Given the description of an element on the screen output the (x, y) to click on. 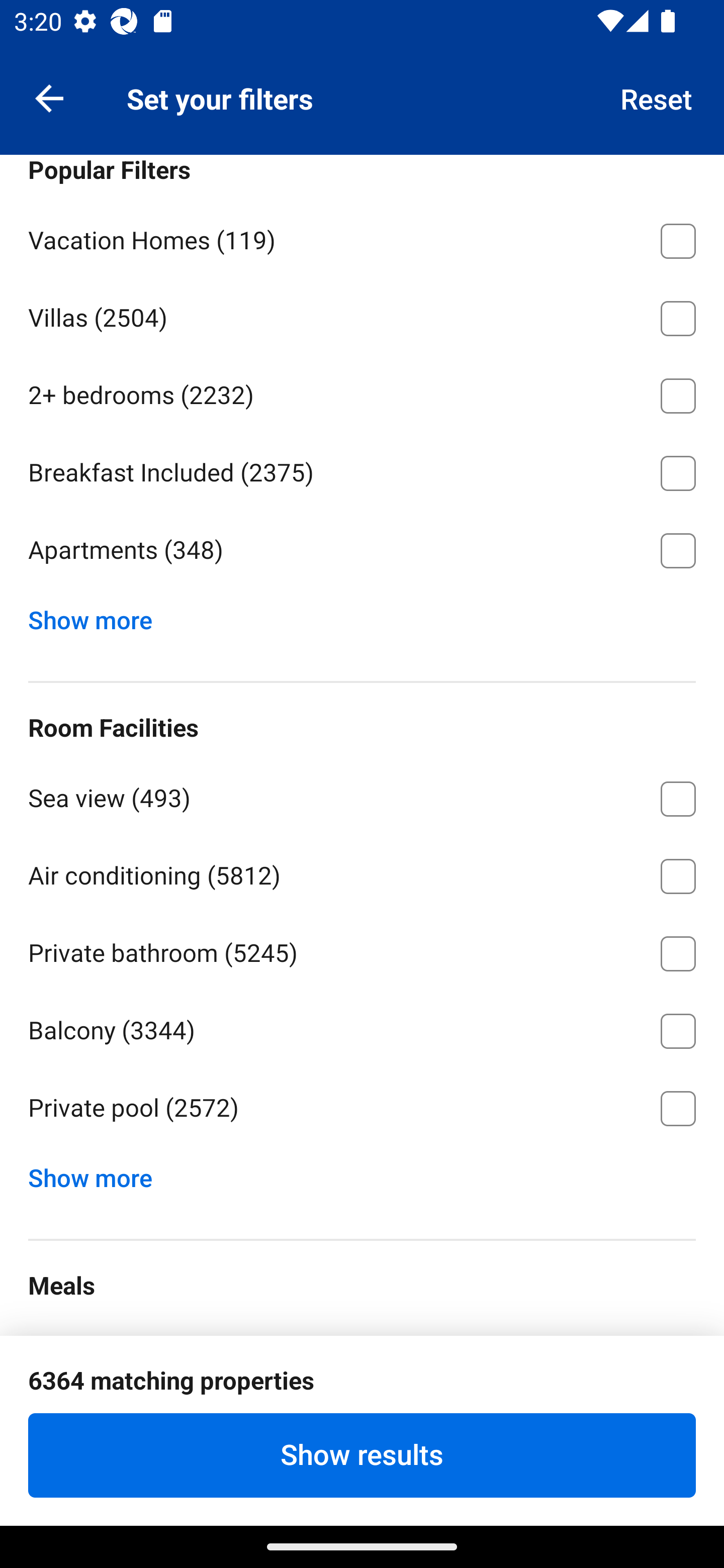
Navigate up (49, 97)
Reset (656, 97)
Vacation Homes ⁦(119) (361, 237)
Villas ⁦(2504) (361, 314)
2+ bedrooms ⁦(2232) (361, 392)
Breakfast Included ⁦(2375) (361, 469)
Apartments ⁦(348) (361, 550)
Show more (97, 615)
Sea view ⁦(493) (361, 795)
Air conditioning ⁦(5812) (361, 872)
Private bathroom ⁦(5245) (361, 950)
Balcony ⁦(3344) (361, 1027)
Private pool ⁦(2572) (361, 1108)
Show more (97, 1173)
Show results (361, 1454)
